Given the description of an element on the screen output the (x, y) to click on. 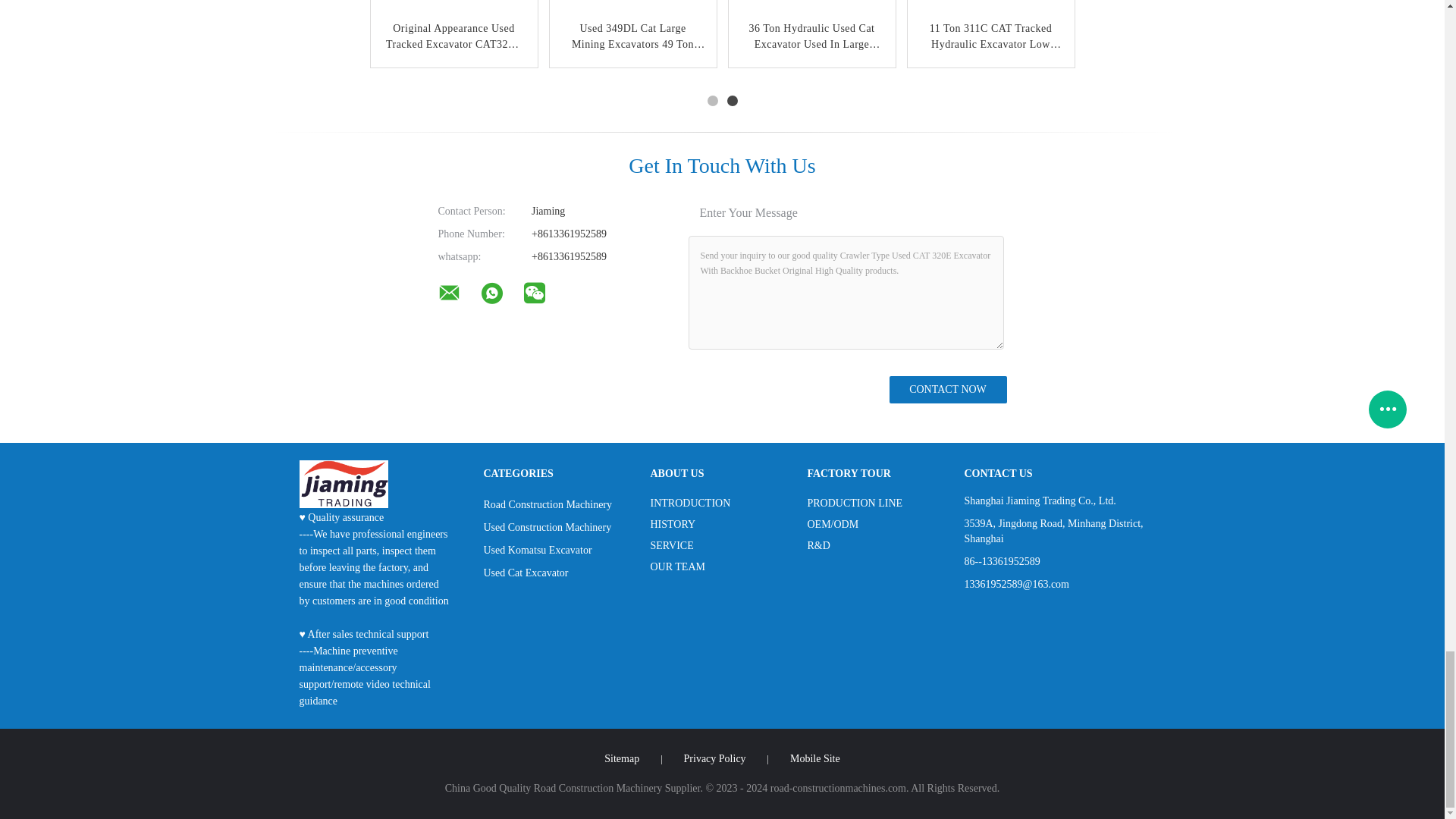
Contact Now (947, 389)
